Given the description of an element on the screen output the (x, y) to click on. 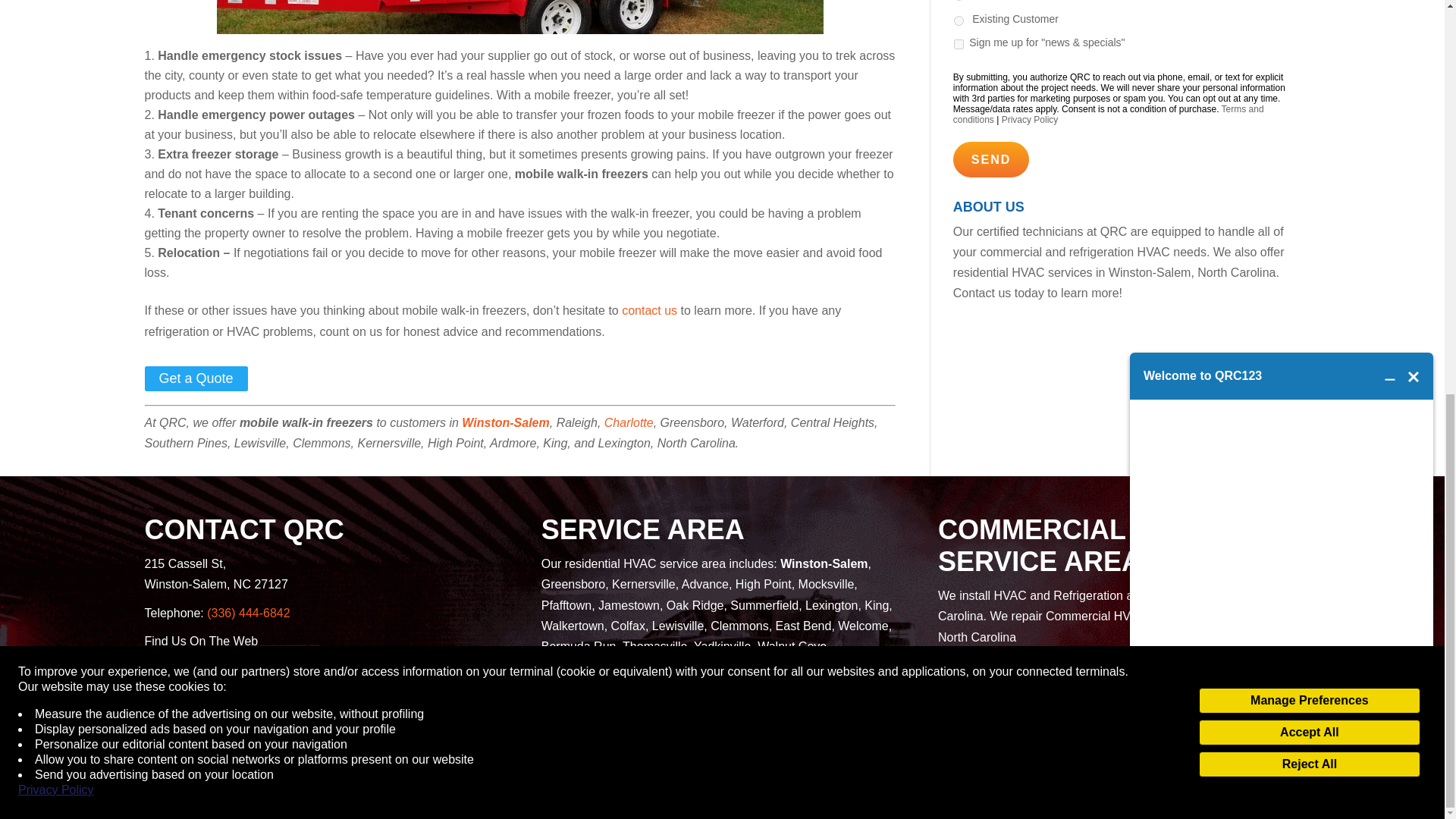
Send (991, 159)
Privacy Policy (55, 30)
Existing Customer (958, 20)
Reject All (1309, 9)
